Given the description of an element on the screen output the (x, y) to click on. 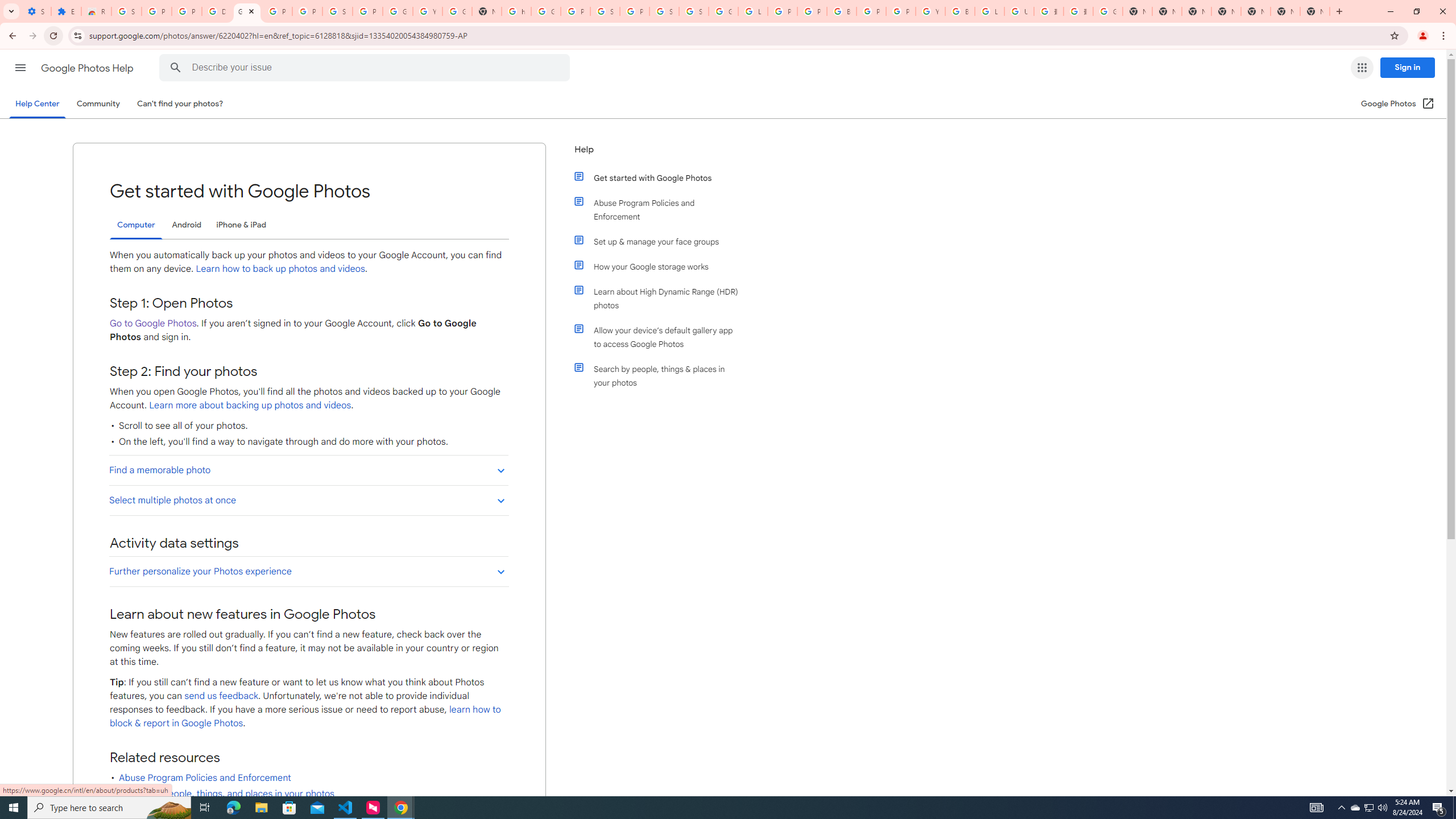
Settings - On startup (36, 11)
Privacy Help Center - Policies Help (782, 11)
Browse Chrome as a guest - Computer - Google Chrome Help (959, 11)
Google Images (1107, 11)
Address and search bar (735, 35)
Set up & manage your face groups (661, 241)
Help (656, 153)
send us feedback (221, 695)
Google Account (397, 11)
